Given the description of an element on the screen output the (x, y) to click on. 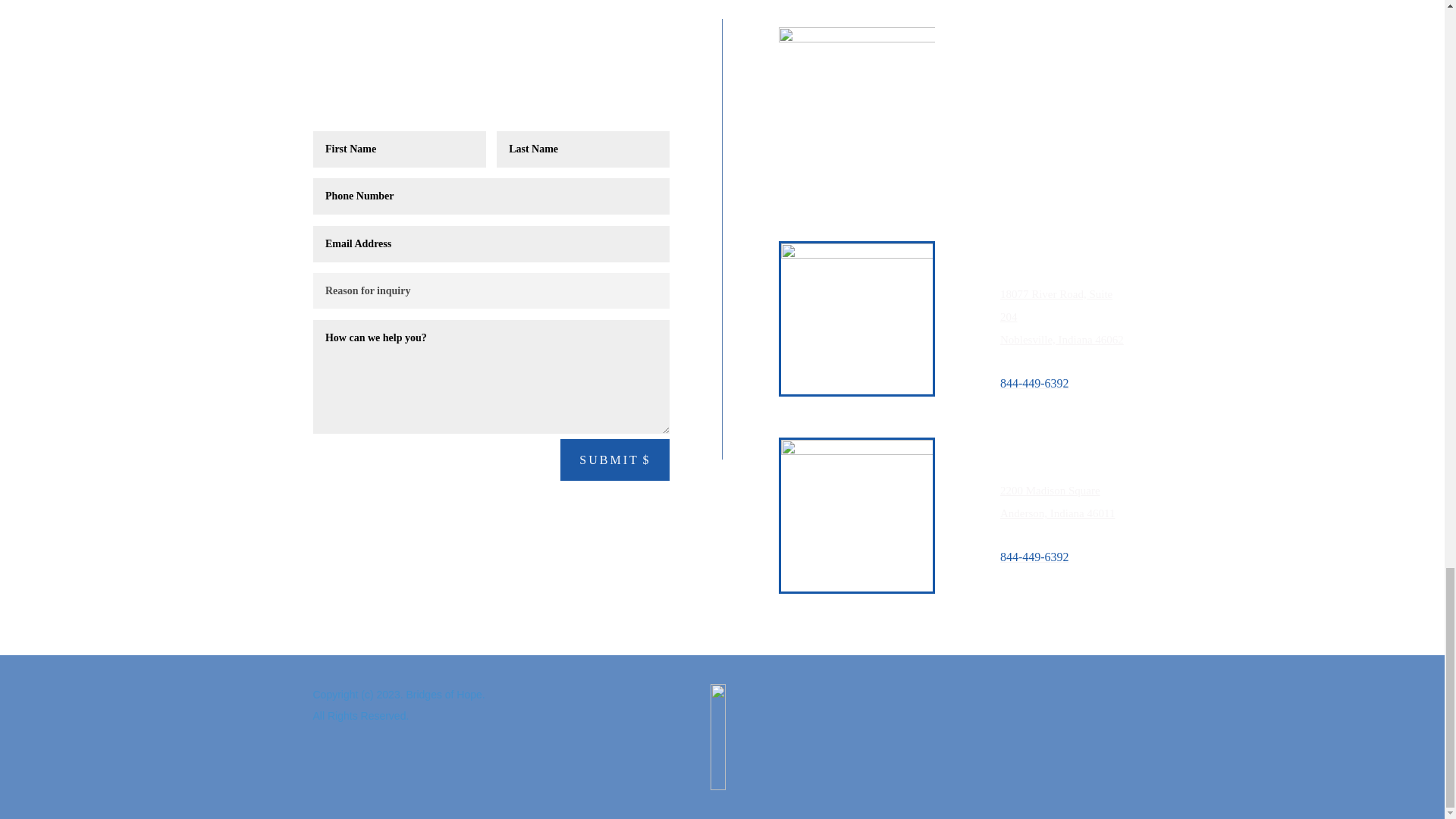
seal-jc (718, 736)
map-noblesville (856, 318)
SUBMIT (614, 459)
map-anderson (856, 515)
boh-logo-white (856, 70)
844-449-6392 (1034, 382)
844.449.6392 (360, 117)
